Given the description of an element on the screen output the (x, y) to click on. 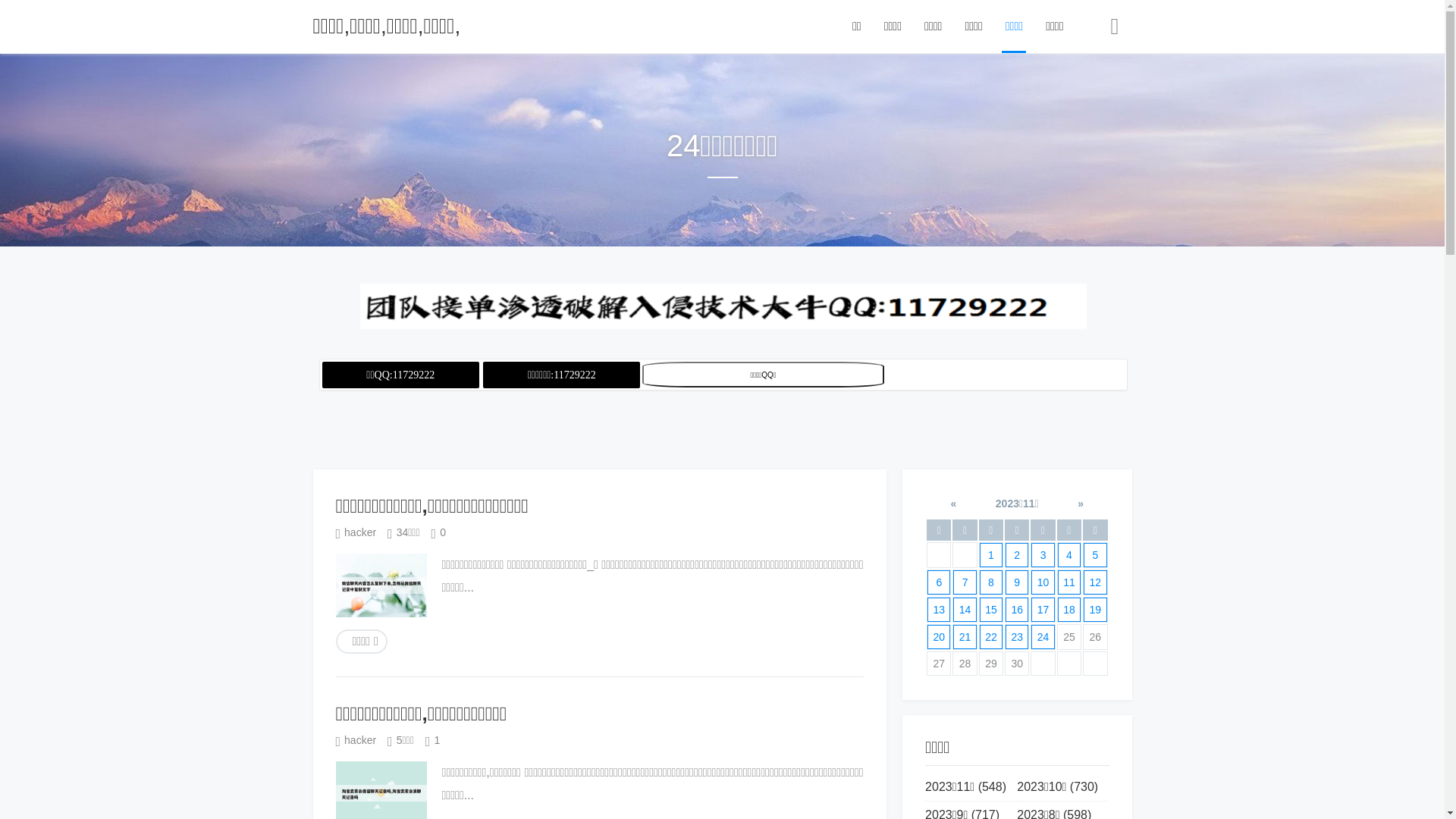
20 Element type: text (938, 636)
11 Element type: text (1068, 582)
10 Element type: text (1042, 582)
13 Element type: text (938, 609)
2 Element type: text (1016, 554)
16 Element type: text (1016, 609)
6 Element type: text (938, 582)
9 Element type: text (1016, 582)
4 Element type: text (1068, 554)
1 Element type: text (990, 554)
7 Element type: text (964, 582)
24 Element type: text (1042, 636)
17 Element type: text (1042, 609)
3 Element type: text (1042, 554)
14 Element type: text (964, 609)
21 Element type: text (964, 636)
18 Element type: text (1068, 609)
8 Element type: text (990, 582)
12 Element type: text (1094, 582)
22 Element type: text (990, 636)
5 Element type: text (1094, 554)
15 Element type: text (990, 609)
23 Element type: text (1016, 636)
19 Element type: text (1094, 609)
